Given the description of an element on the screen output the (x, y) to click on. 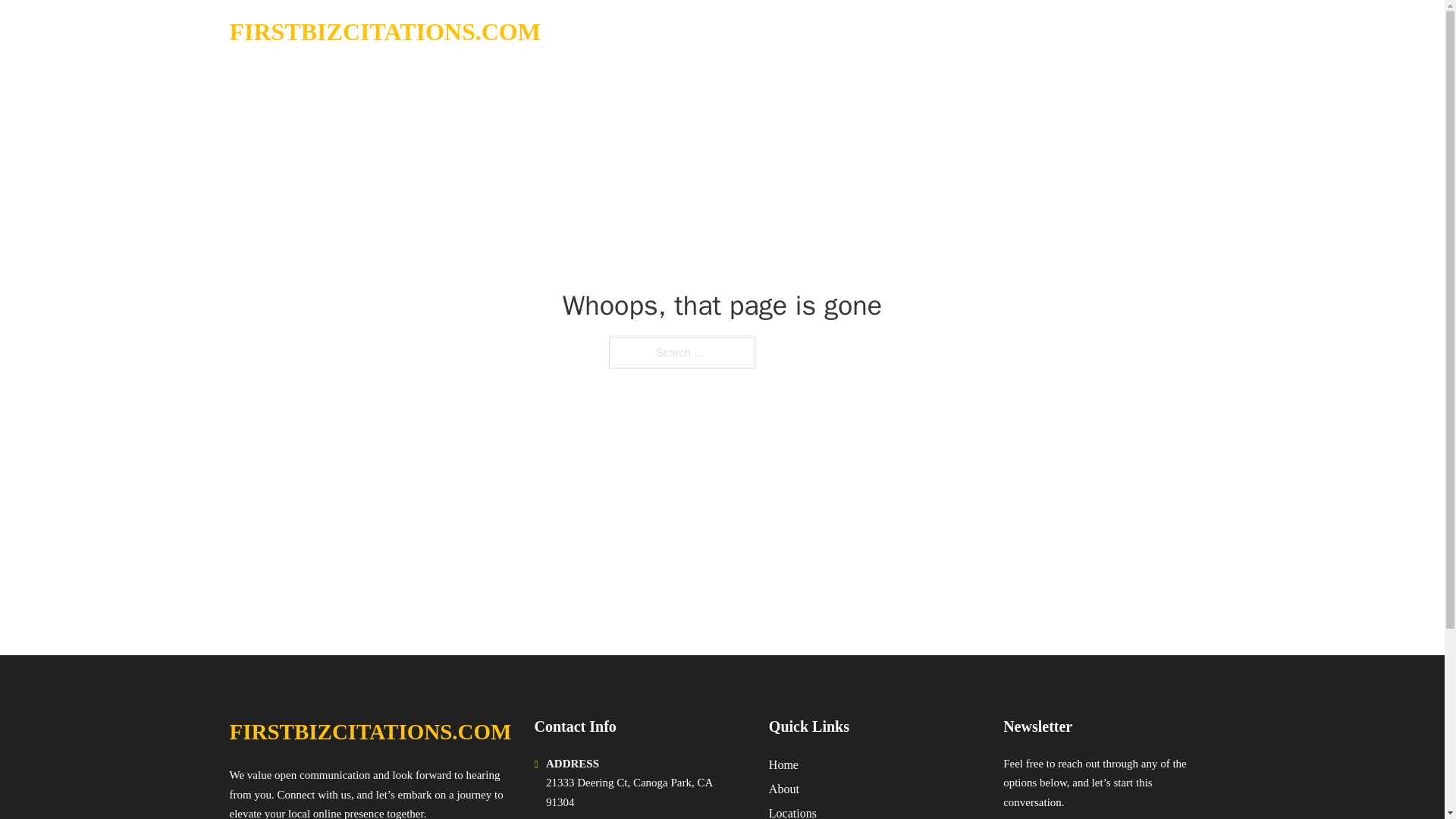
Home (782, 764)
Locations (792, 811)
LOCATIONS (1098, 31)
FIRSTBIZCITATIONS.COM (369, 732)
HOME (1025, 31)
FIRSTBIZCITATIONS.COM (384, 31)
About (783, 788)
